Given the description of an element on the screen output the (x, y) to click on. 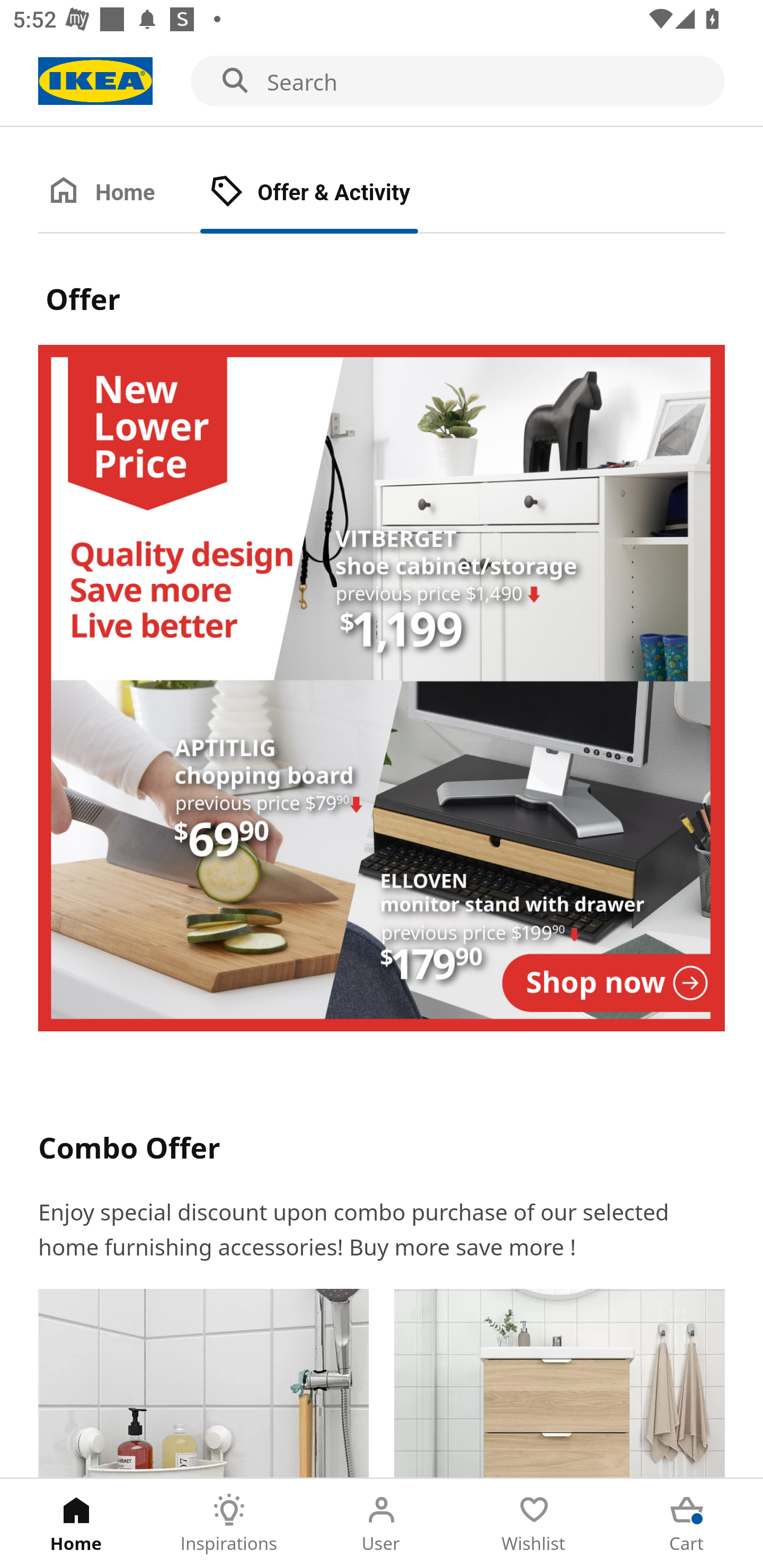
Search (381, 81)
Home
Tab 1 of 2 (118, 192)
Offer & Activity
Tab 2 of 2 (327, 192)
Home
Tab 1 of 5 (76, 1522)
Inspirations
Tab 2 of 5 (228, 1522)
User
Tab 3 of 5 (381, 1522)
Wishlist
Tab 4 of 5 (533, 1522)
Cart
Tab 5 of 5 (686, 1522)
